Given the description of an element on the screen output the (x, y) to click on. 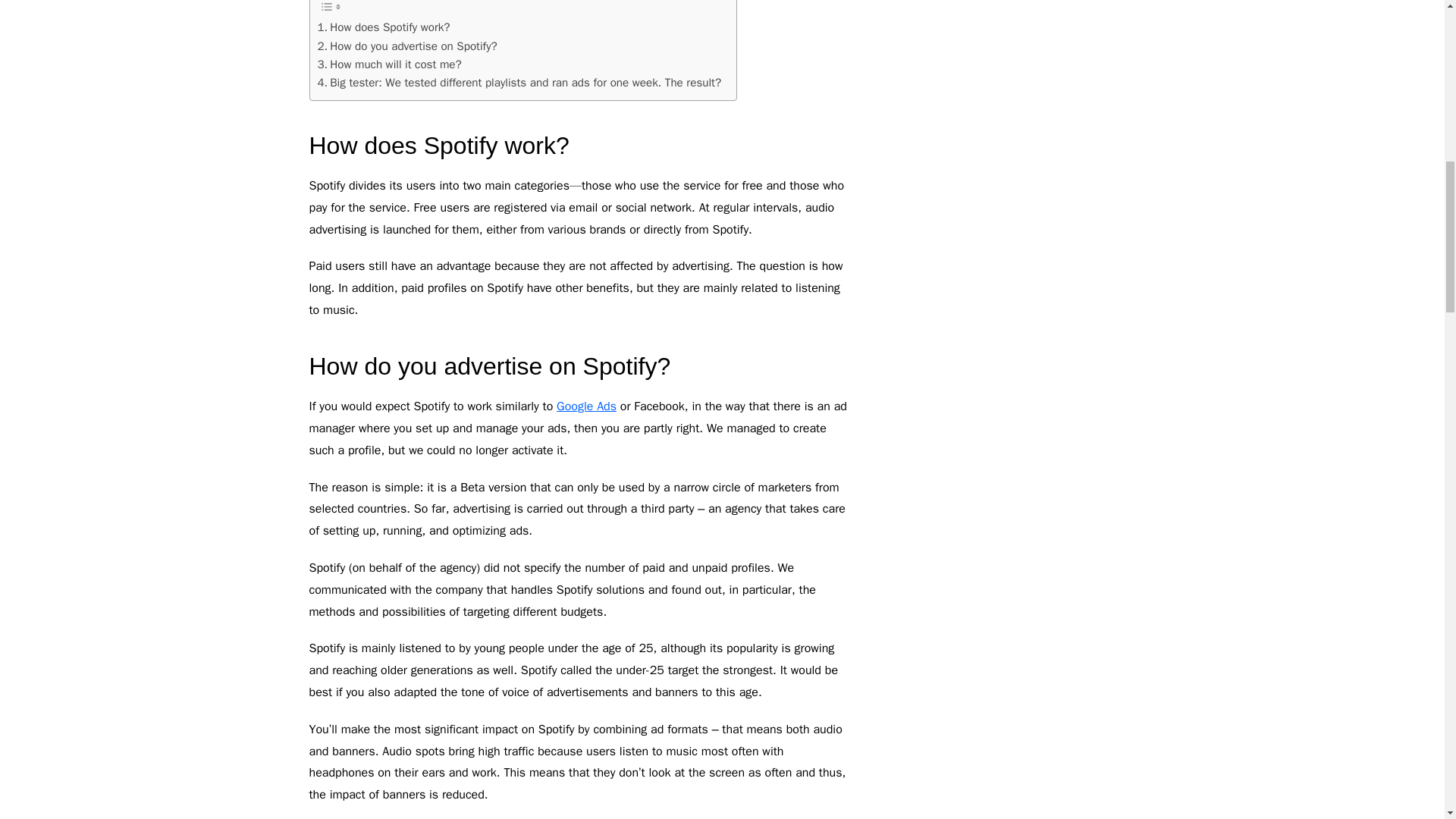
Google Ads (585, 406)
How do you advertise on Spotify? (406, 45)
How does Spotify work? (383, 27)
How much will it cost me? (389, 64)
How do you advertise on Spotify? (406, 45)
How does Spotify work? (383, 27)
How much will it cost me? (389, 64)
